Given the description of an element on the screen output the (x, y) to click on. 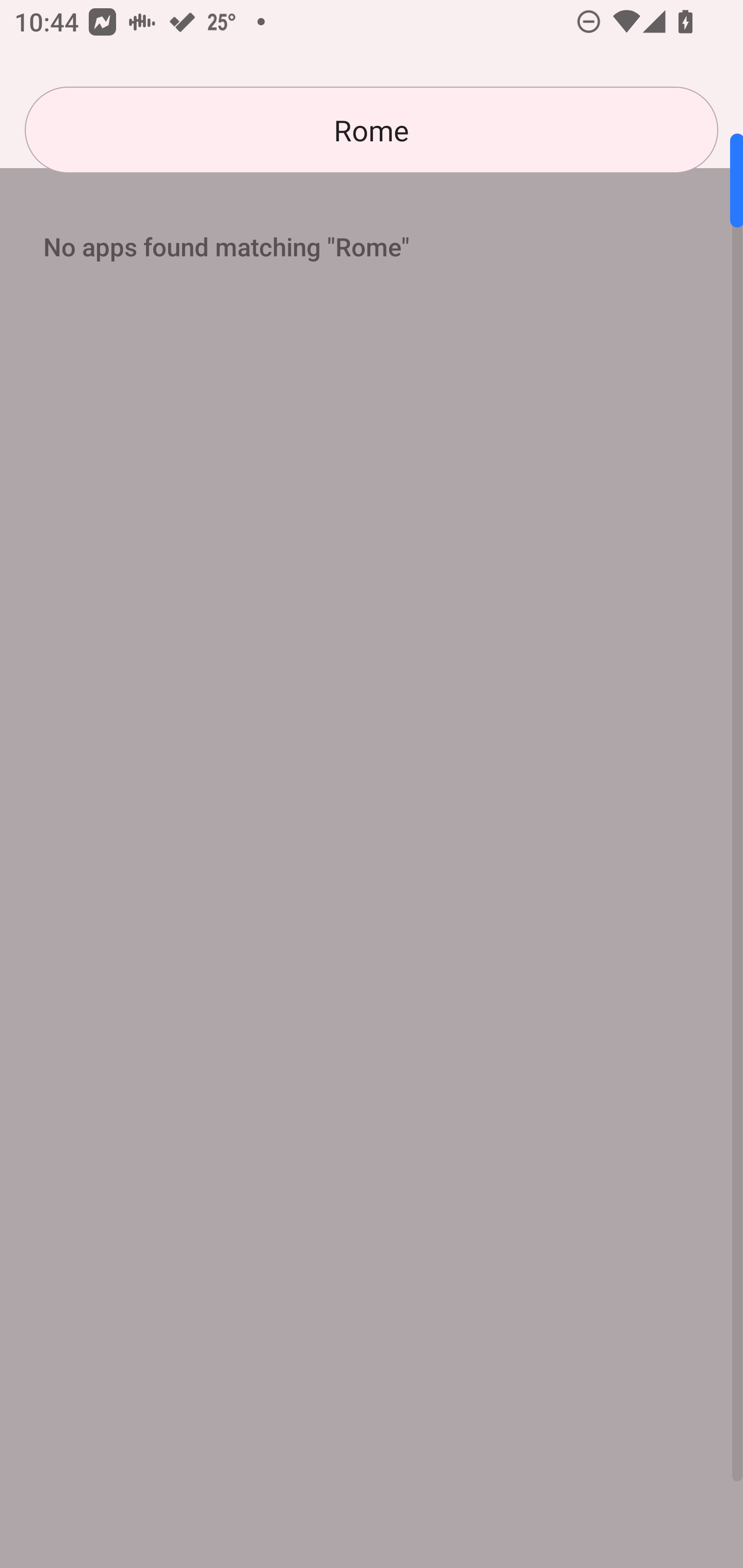
Rome (371, 130)
